Given the description of an element on the screen output the (x, y) to click on. 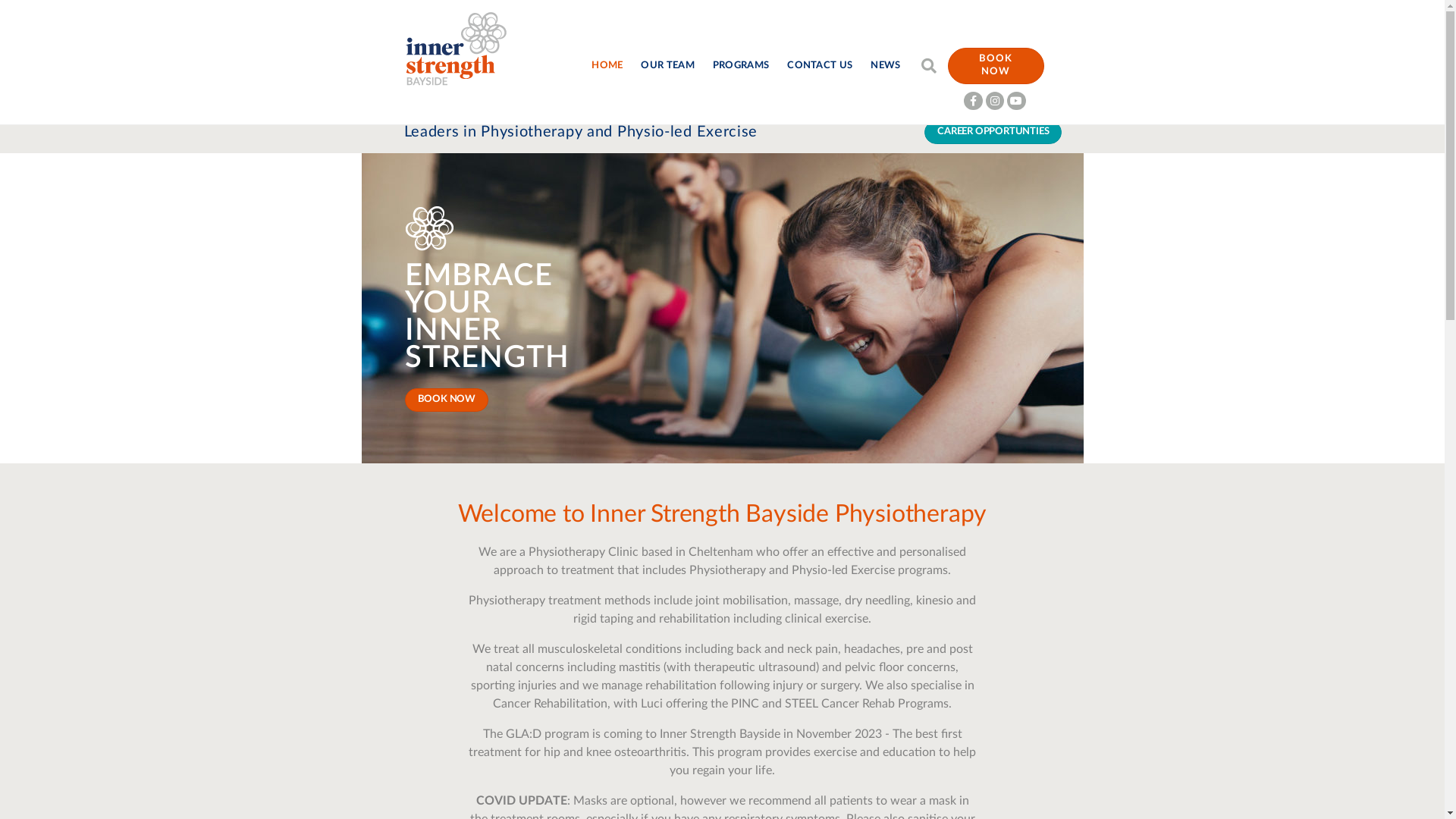
CAREER OPPORTUNTIES Element type: text (992, 132)
CONTACT US Element type: text (819, 65)
BOOK NOW Element type: text (995, 65)
BOOK NOW Element type: text (446, 399)
NEWS Element type: text (885, 65)
PROGRAMS Element type: text (740, 65)
OUR TEAM Element type: text (666, 65)
white-emblem-60x65@2x Element type: hover (429, 228)
HOME Element type: text (606, 65)
